Given the description of an element on the screen output the (x, y) to click on. 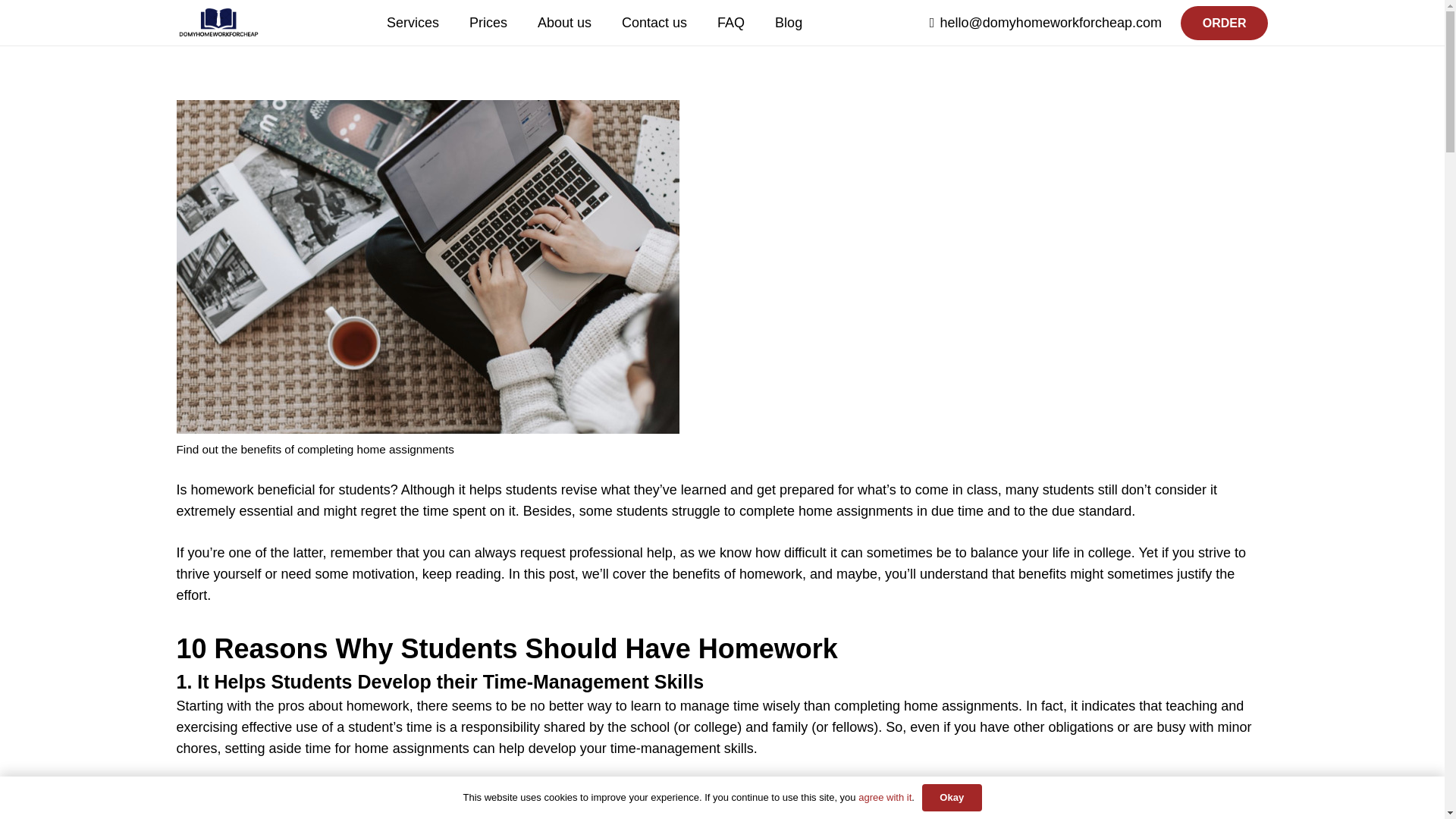
Blog (788, 22)
Contact us (654, 22)
ORDER (1241, 28)
Prices (488, 22)
agree with it (885, 797)
FAQ (730, 22)
Services (412, 22)
Okay (951, 797)
About us (564, 22)
